Given the description of an element on the screen output the (x, y) to click on. 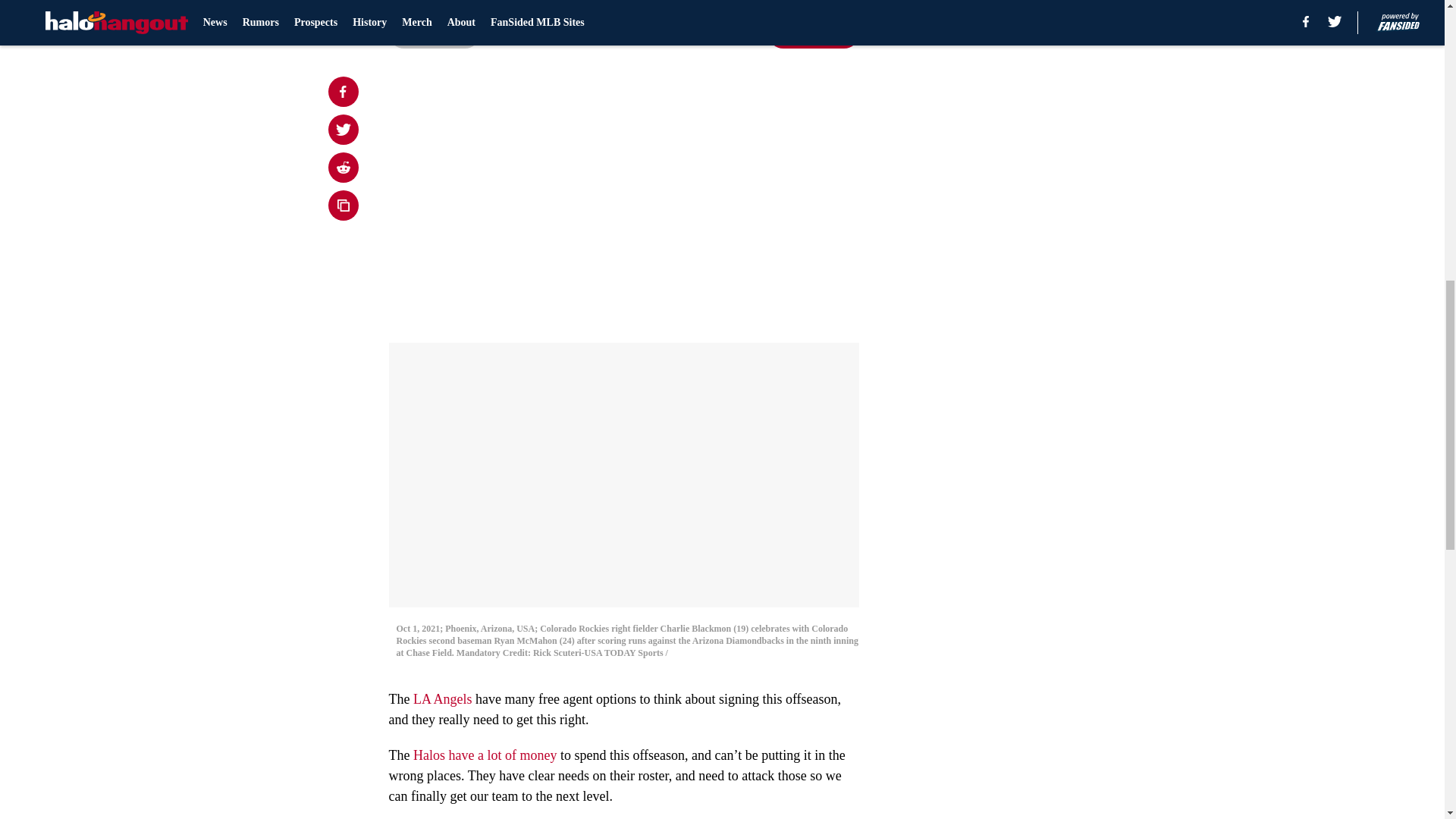
Halos have a lot of money (484, 754)
Next (813, 33)
LA Angels (442, 698)
Prev (433, 33)
